Given the description of an element on the screen output the (x, y) to click on. 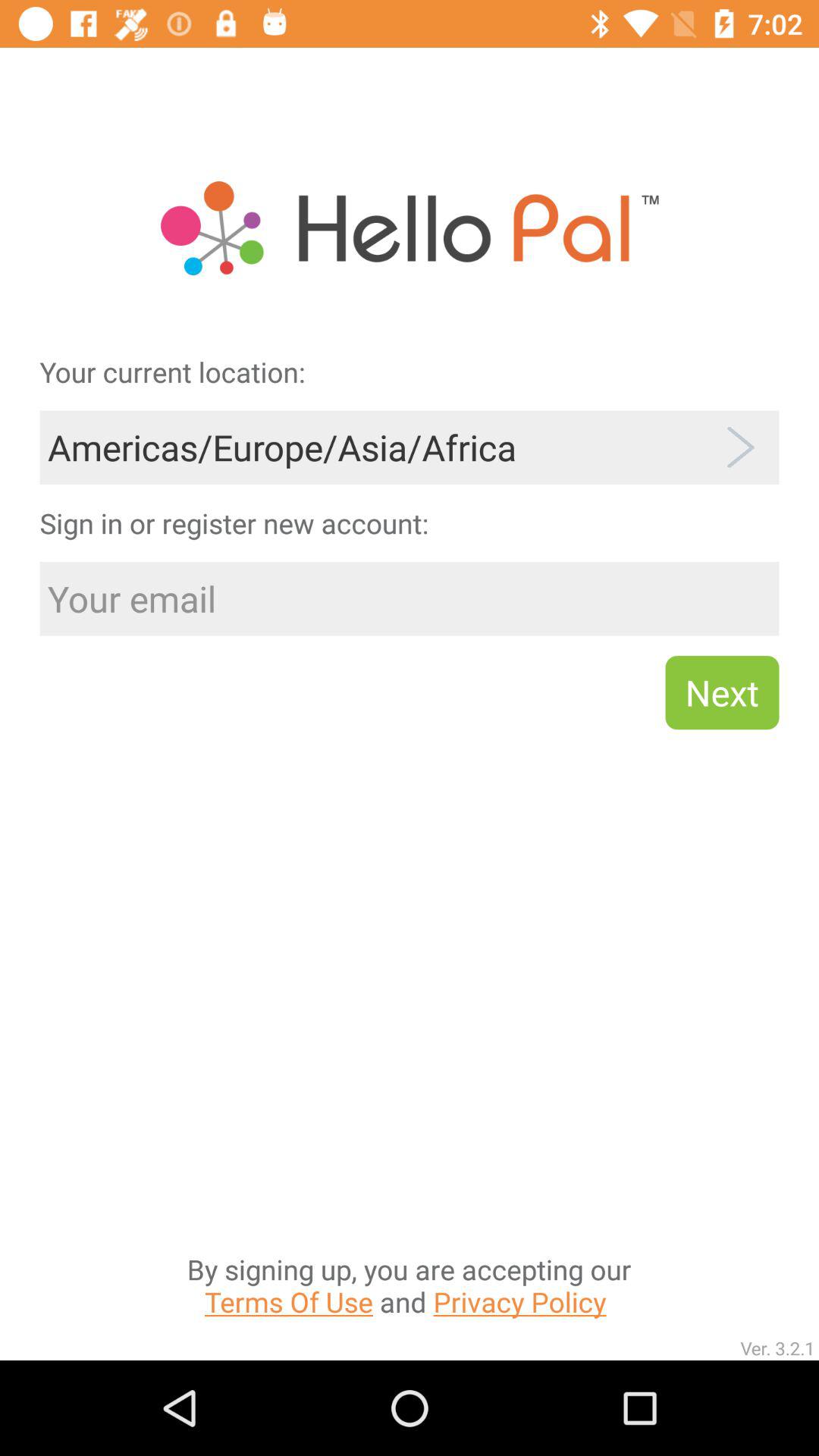
tap the icon below sign in or item (409, 598)
